Given the description of an element on the screen output the (x, y) to click on. 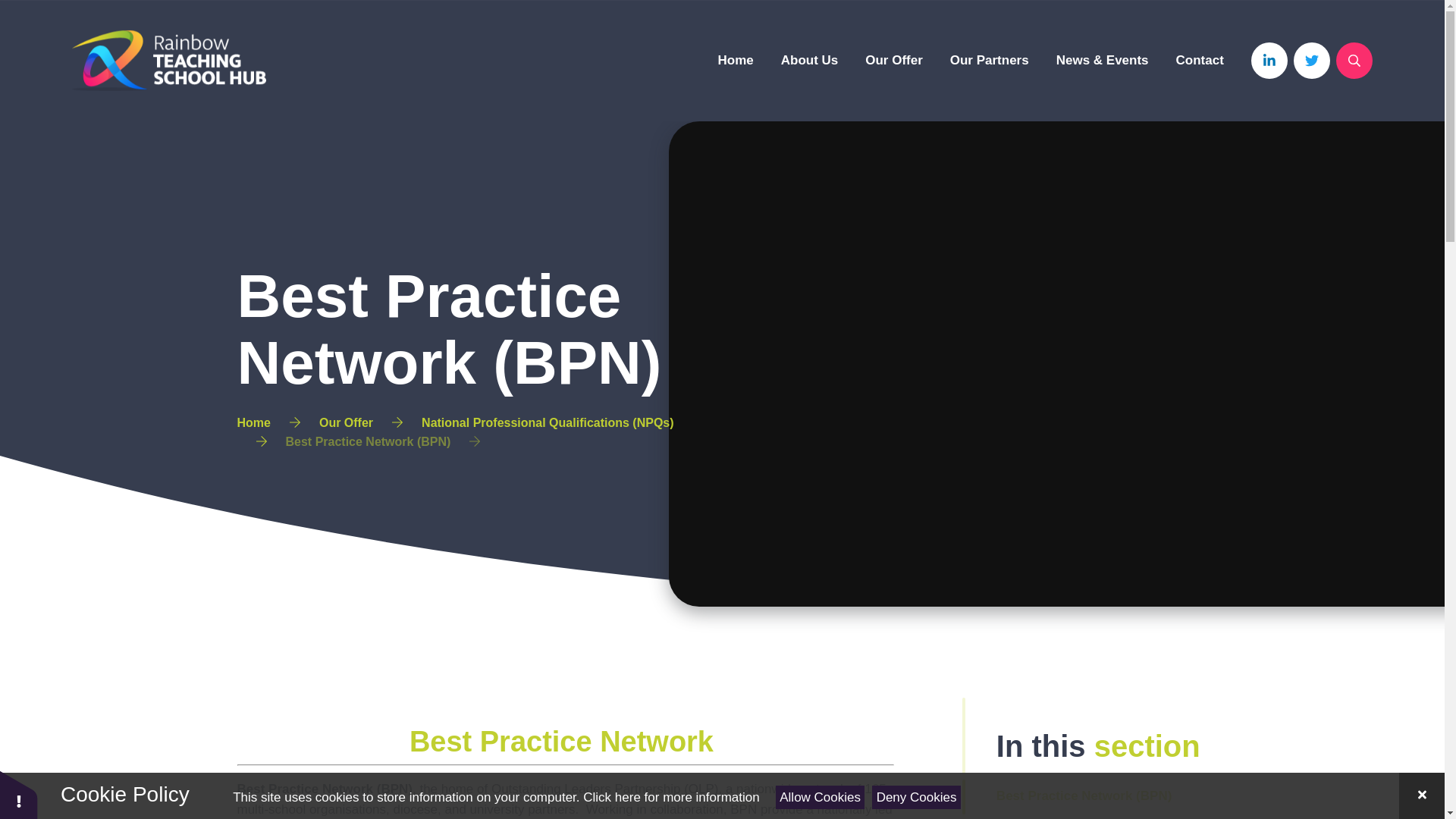
Allow Cookies (820, 797)
About Us (809, 59)
Our Offer (893, 59)
Our Partners (989, 59)
Cookie Settings (18, 794)
Deny Cookies (915, 797)
See cookie policy (670, 797)
Home (735, 59)
